Given the description of an element on the screen output the (x, y) to click on. 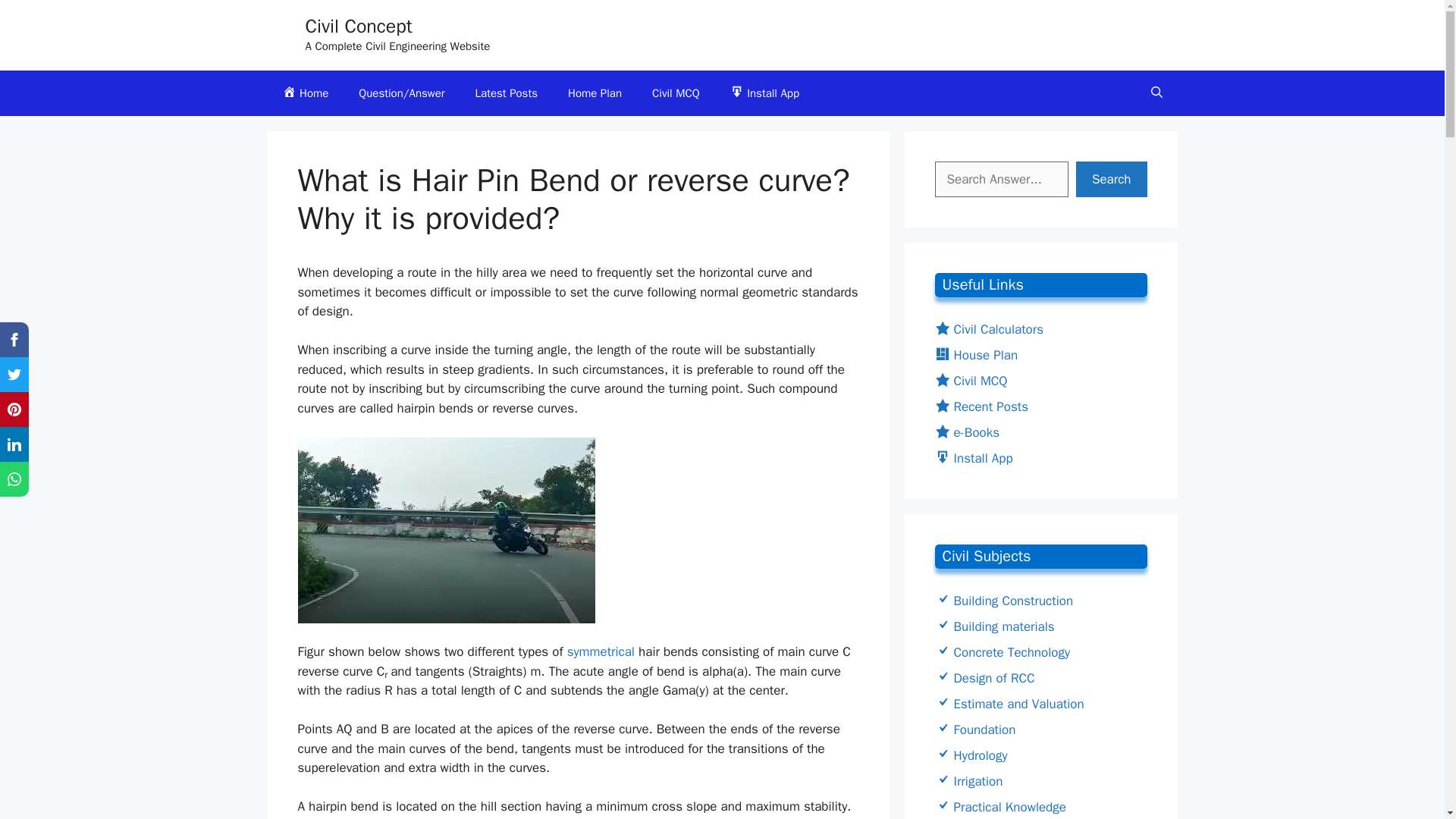
Install App (763, 92)
House Plan (975, 355)
e-Books (966, 432)
Search (1111, 178)
Civil MCQ (970, 381)
Install App (972, 458)
Home Plan (595, 92)
Recent Posts (980, 406)
symmetrical (600, 651)
Civil Concept (358, 25)
